Given the description of an element on the screen output the (x, y) to click on. 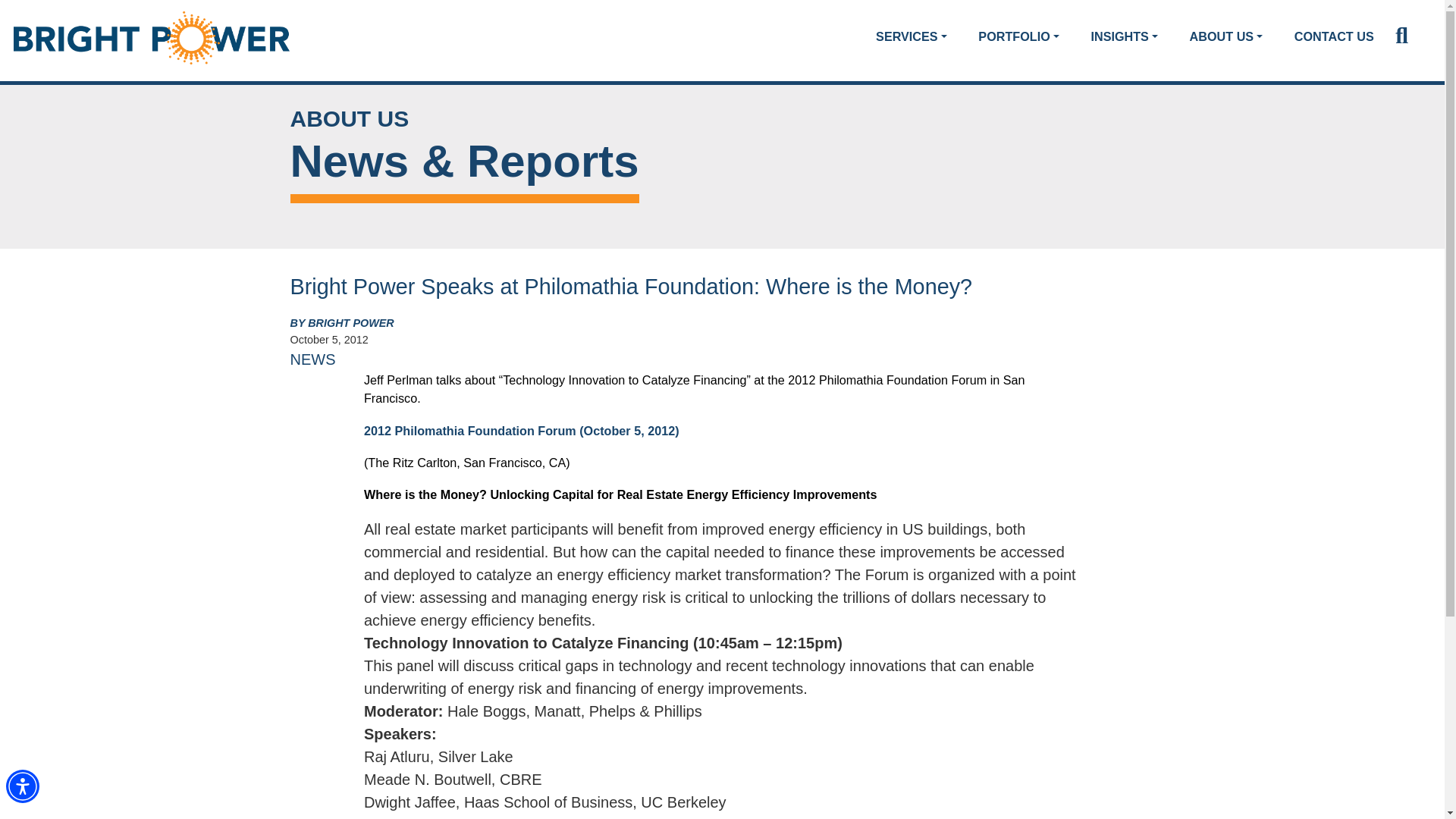
PORTFOLIO (1018, 36)
SERVICES (910, 36)
Services (910, 36)
Accessibility Menu (22, 786)
